Given the description of an element on the screen output the (x, y) to click on. 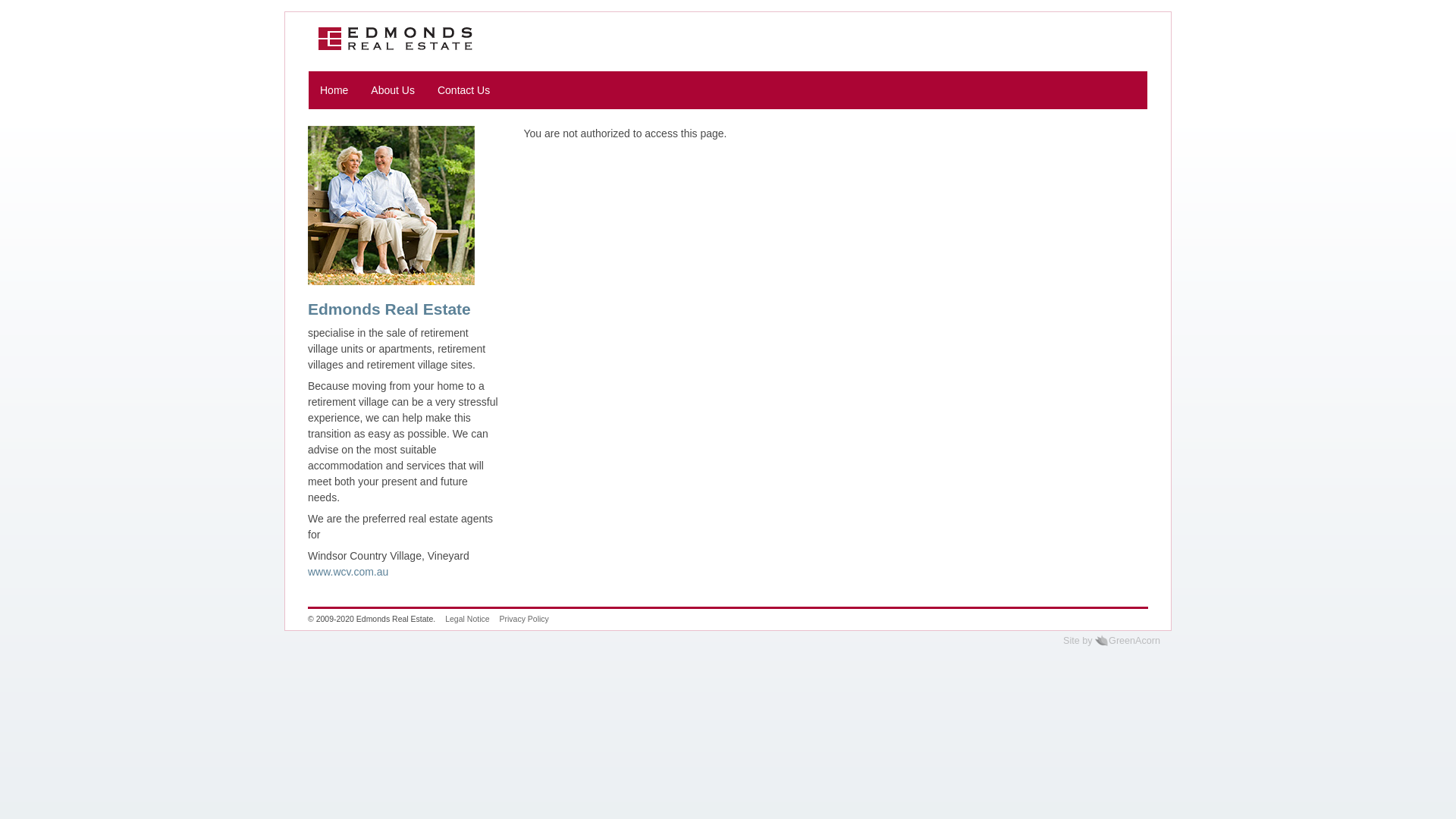
Contact Us Element type: text (463, 90)
Skip to main content Element type: text (0, 11)
About Us Element type: text (392, 90)
Home Element type: hover (395, 38)
Home Element type: text (333, 90)
Site by GreenAcorn Element type: text (1111, 640)
www.wcv.com.au Element type: text (347, 571)
Legal Notice Element type: text (467, 618)
GreenAcorn Element type: hover (1101, 640)
Privacy Policy Element type: text (523, 618)
